Given the description of an element on the screen output the (x, y) to click on. 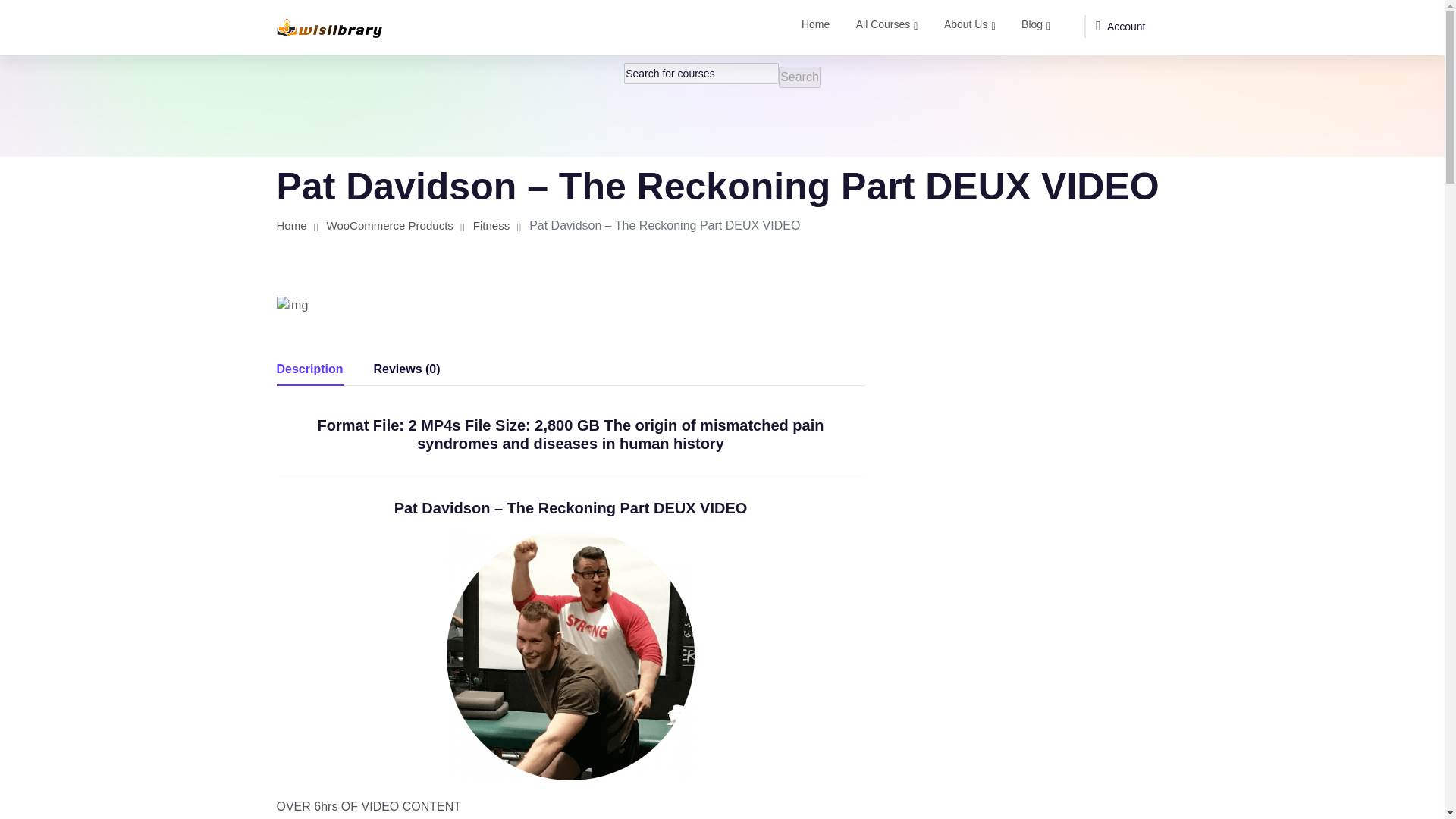
Fitness (491, 225)
Search (799, 76)
WooCommerce Products (389, 225)
All Courses (887, 27)
Description (309, 368)
Search (799, 76)
Account (1120, 25)
About Us (969, 27)
All Courses (887, 27)
Home (290, 225)
